Given the description of an element on the screen output the (x, y) to click on. 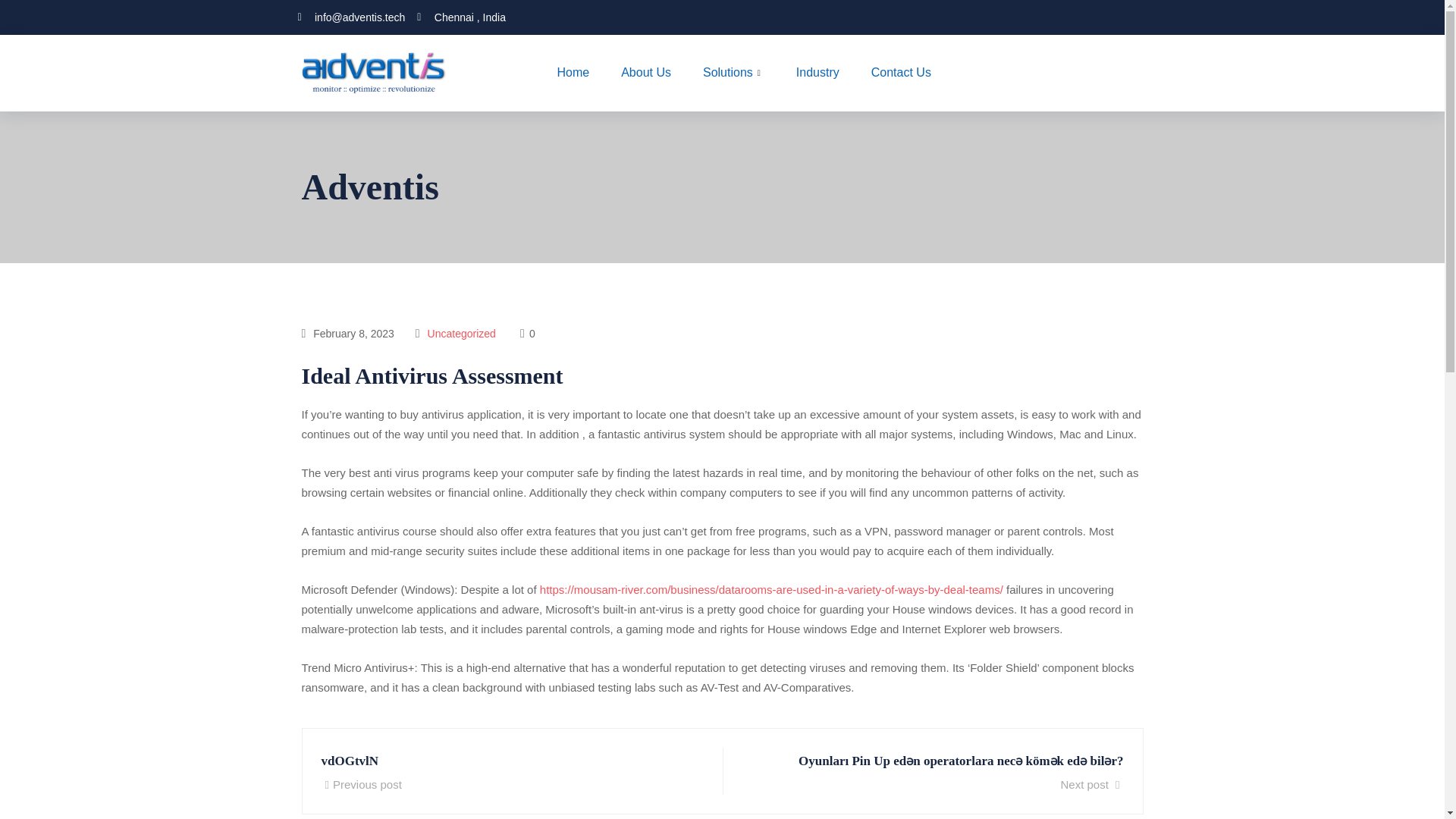
Industry (818, 72)
Uncategorized (462, 333)
About Us (646, 72)
Solutions (733, 72)
Contact Us (901, 72)
Home (507, 771)
